Given the description of an element on the screen output the (x, y) to click on. 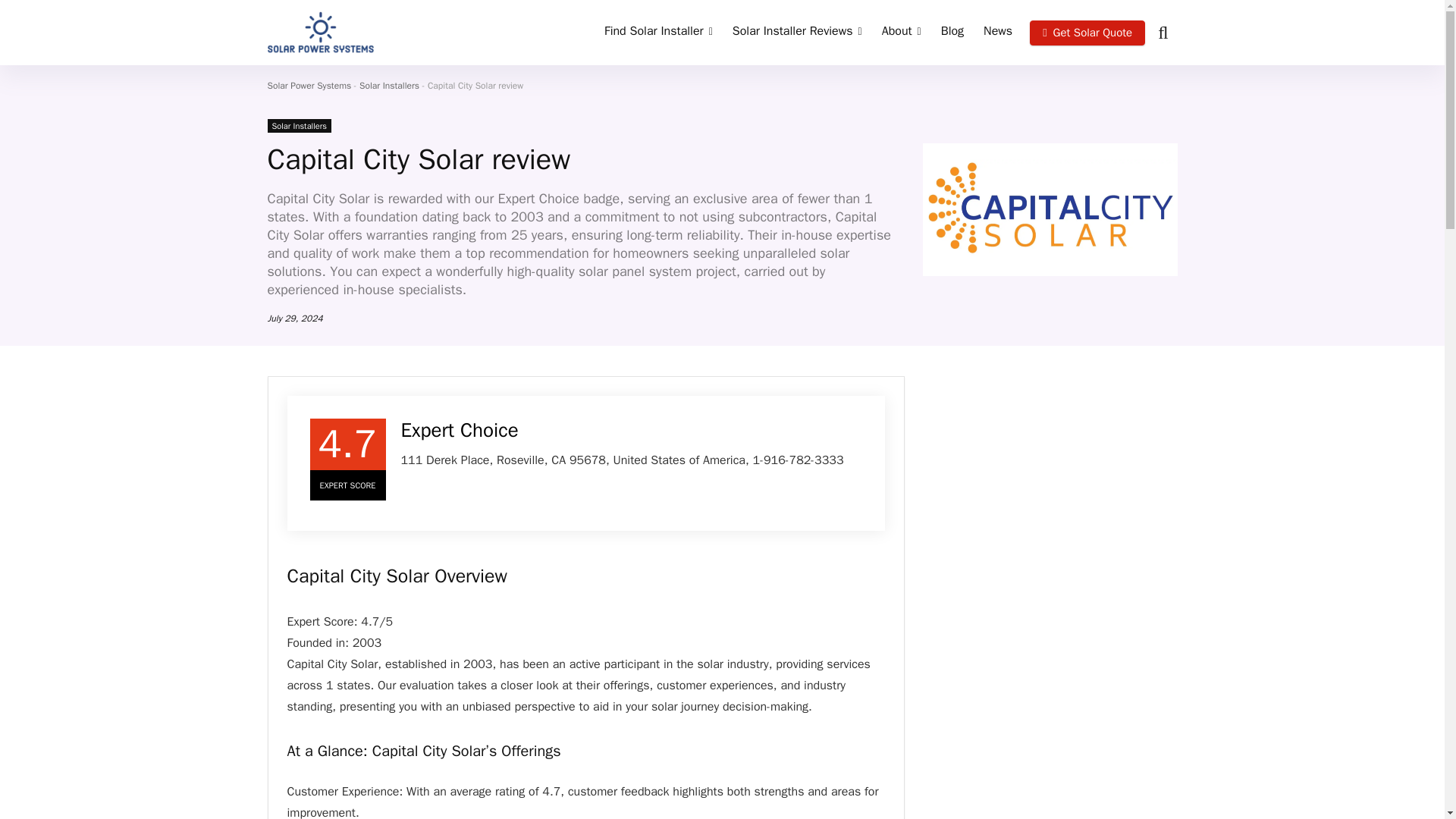
Blog (952, 32)
Solar Installer Reviews (797, 32)
About (901, 32)
View all posts in Solar Installers (298, 125)
News (998, 32)
Find Solar Installer (658, 32)
